Given the description of an element on the screen output the (x, y) to click on. 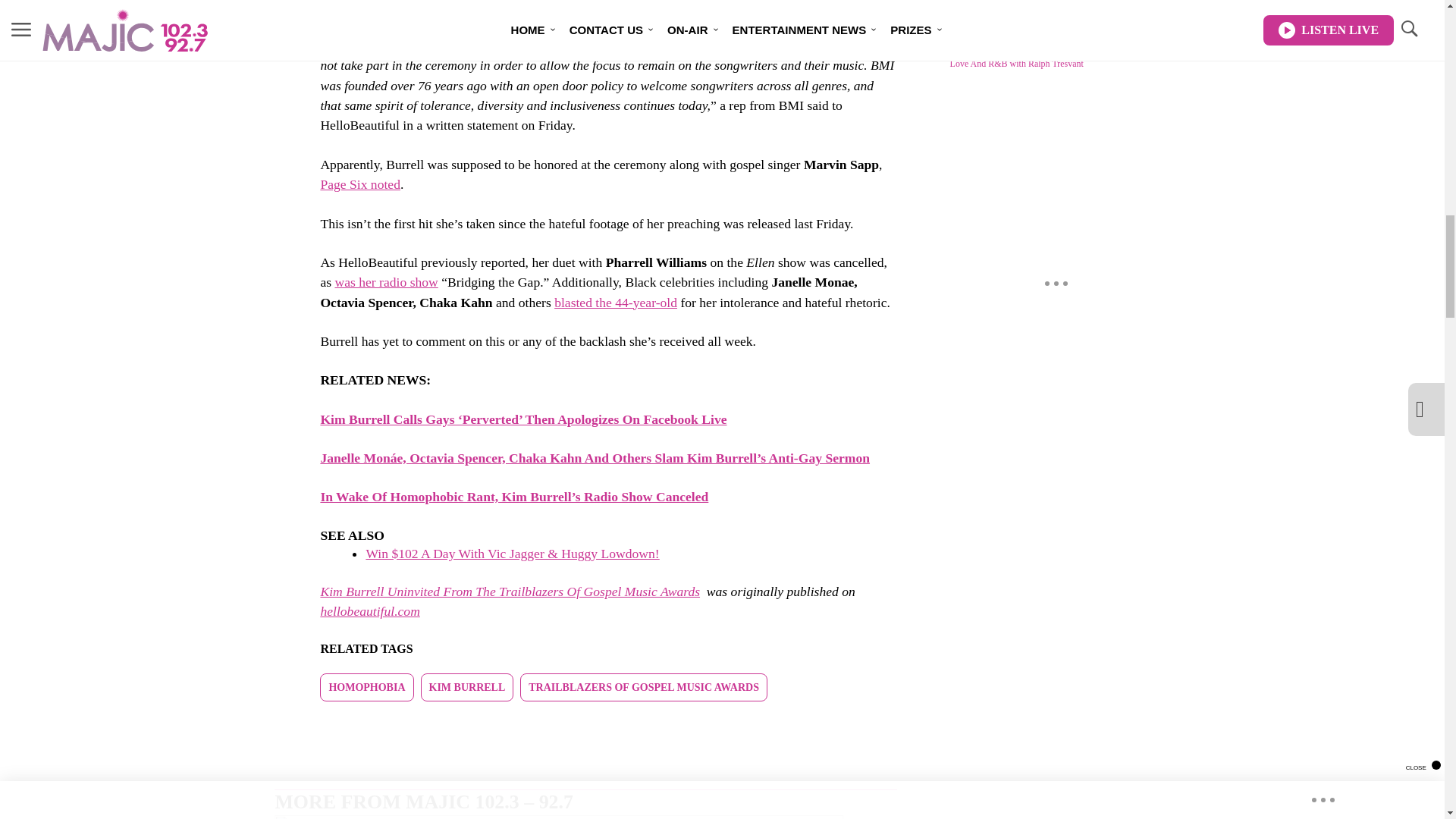
Page Six noted (360, 183)
was her radio show (386, 281)
